Given the description of an element on the screen output the (x, y) to click on. 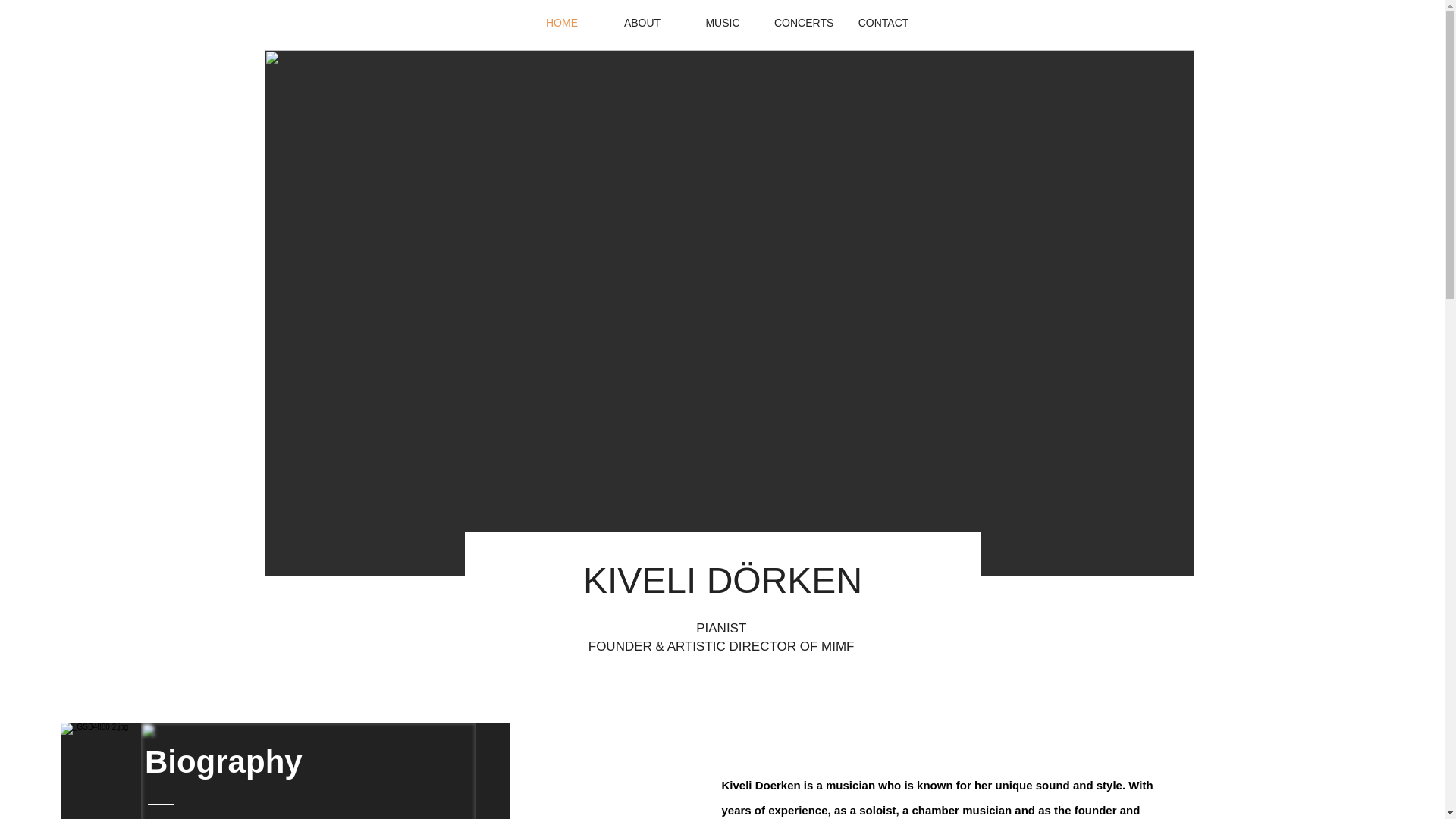
CONTACT (883, 22)
ABOUT (642, 22)
HOME (561, 22)
MUSIC (722, 22)
CONCERTS (802, 22)
